Given the description of an element on the screen output the (x, y) to click on. 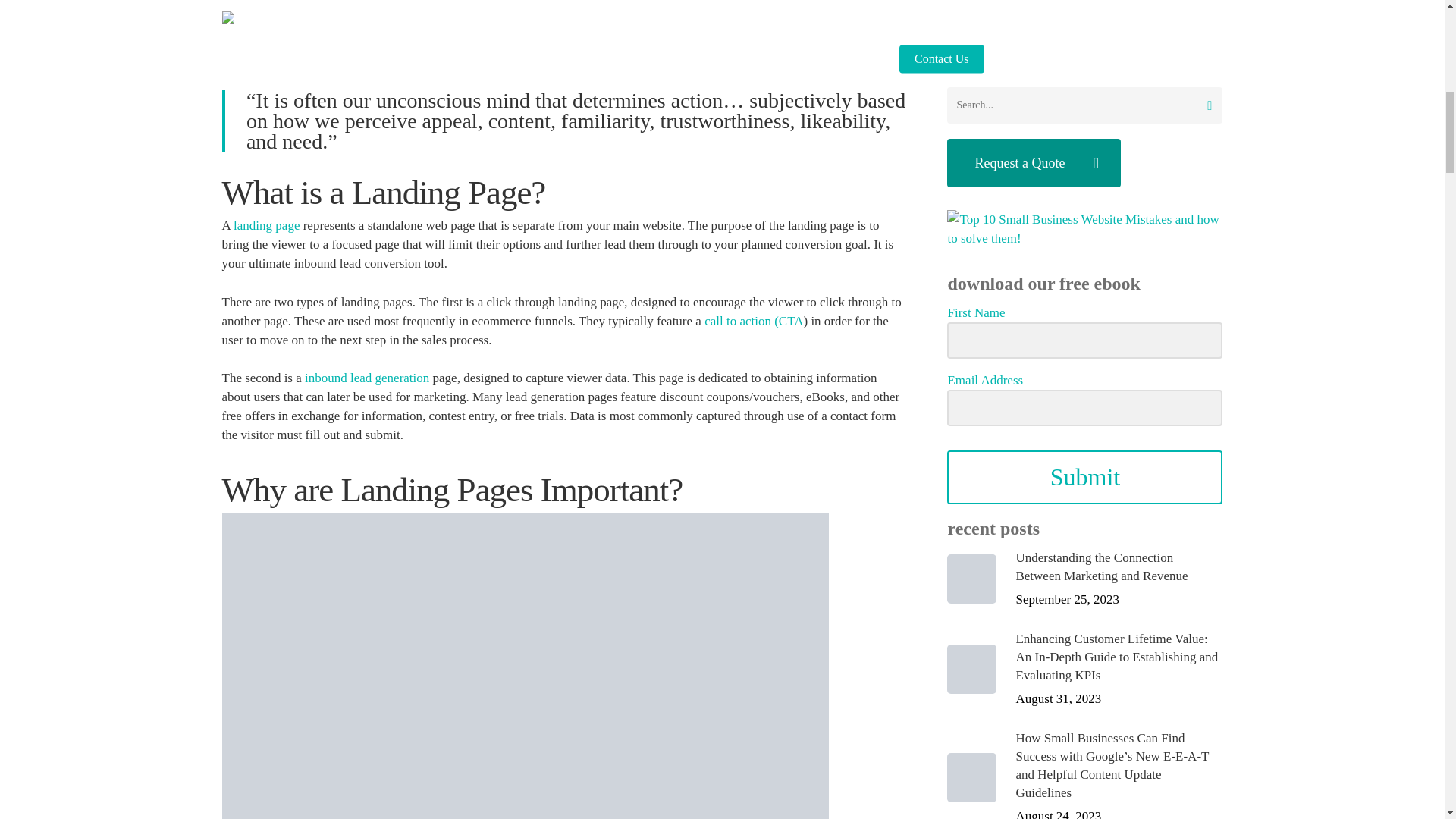
Search for: (1085, 104)
